Given the description of an element on the screen output the (x, y) to click on. 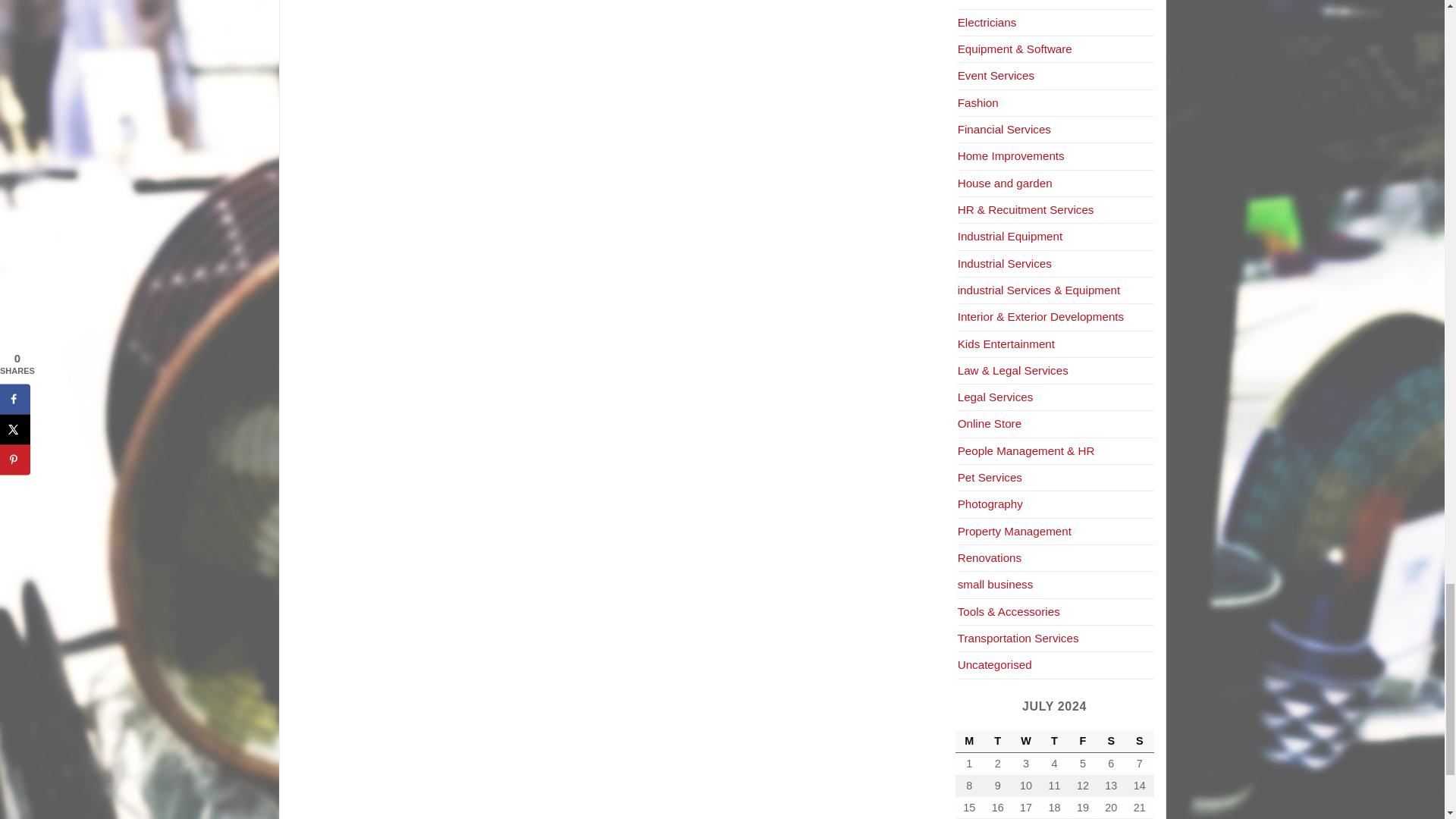
Fashion (978, 102)
Electricians (987, 21)
Ecommerce (988, 0)
